Given the description of an element on the screen output the (x, y) to click on. 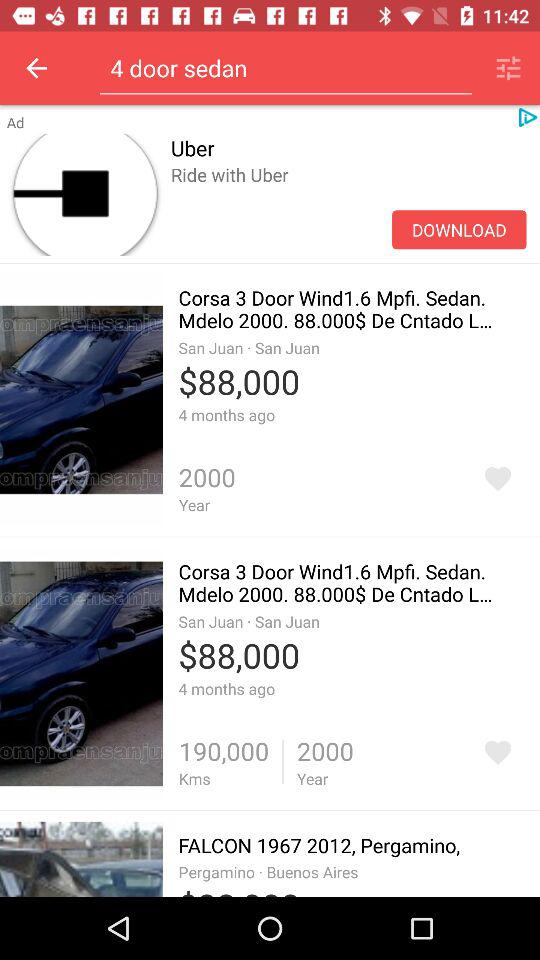
launch item below uber item (348, 195)
